Given the description of an element on the screen output the (x, y) to click on. 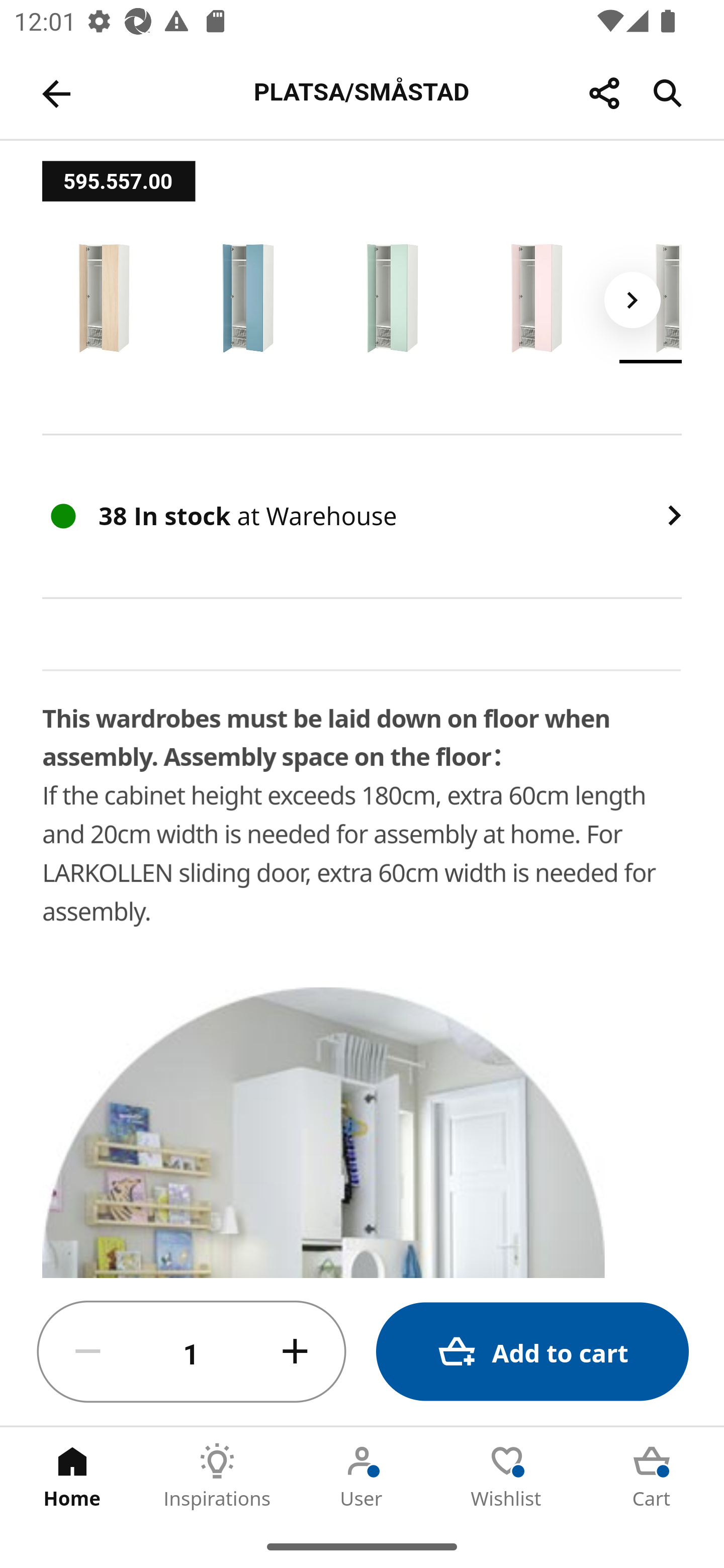
38 In stock at Warehouse (361, 516)
Add to cart (531, 1352)
1 (191, 1352)
Home
Tab 1 of 5 (72, 1476)
Inspirations
Tab 2 of 5 (216, 1476)
User
Tab 3 of 5 (361, 1476)
Wishlist
Tab 4 of 5 (506, 1476)
Cart
Tab 5 of 5 (651, 1476)
